Given the description of an element on the screen output the (x, y) to click on. 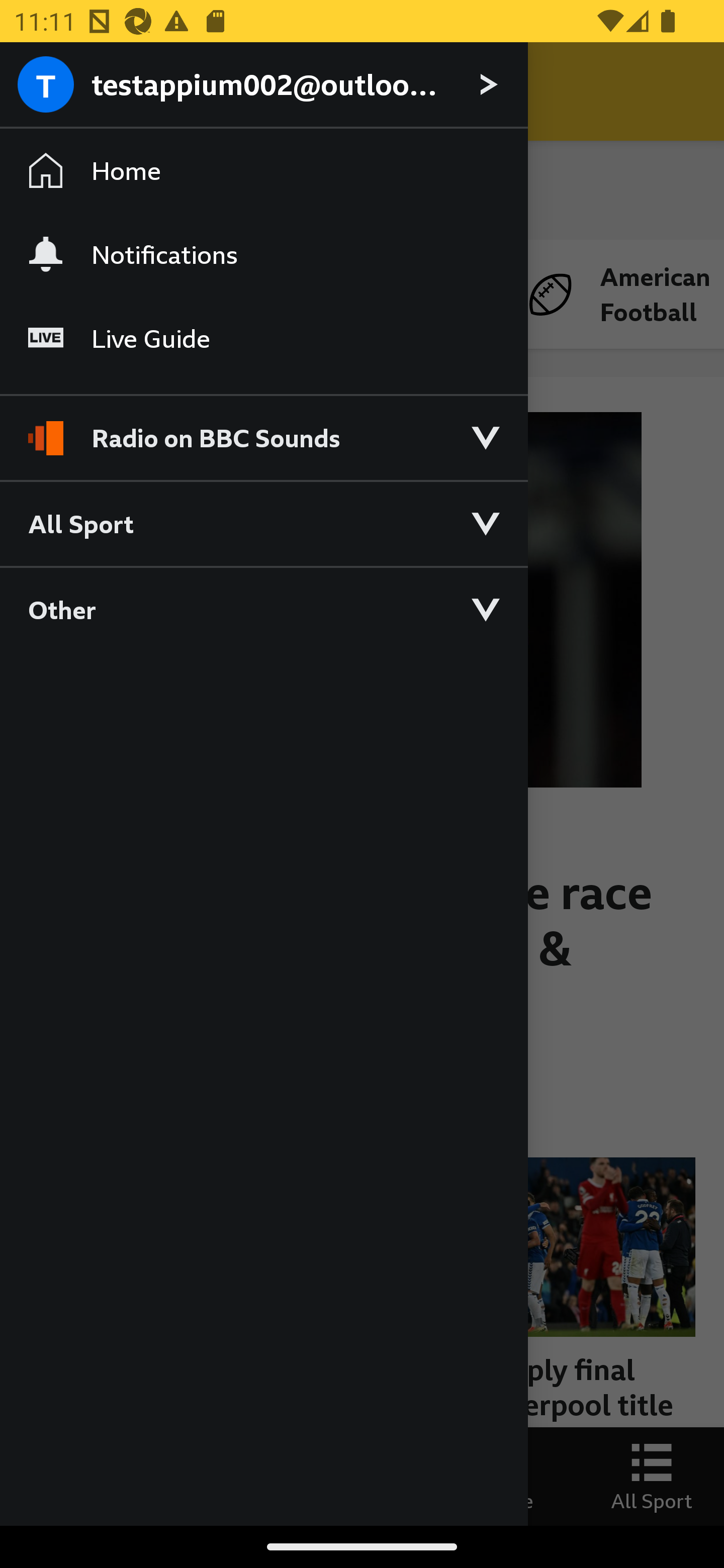
testappium002@outlook.com (263, 85)
Home (263, 170)
Notifications (263, 253)
Live Guide (263, 338)
Radio on BBC Sounds (263, 429)
All Sport (263, 522)
Other (263, 609)
